Given the description of an element on the screen output the (x, y) to click on. 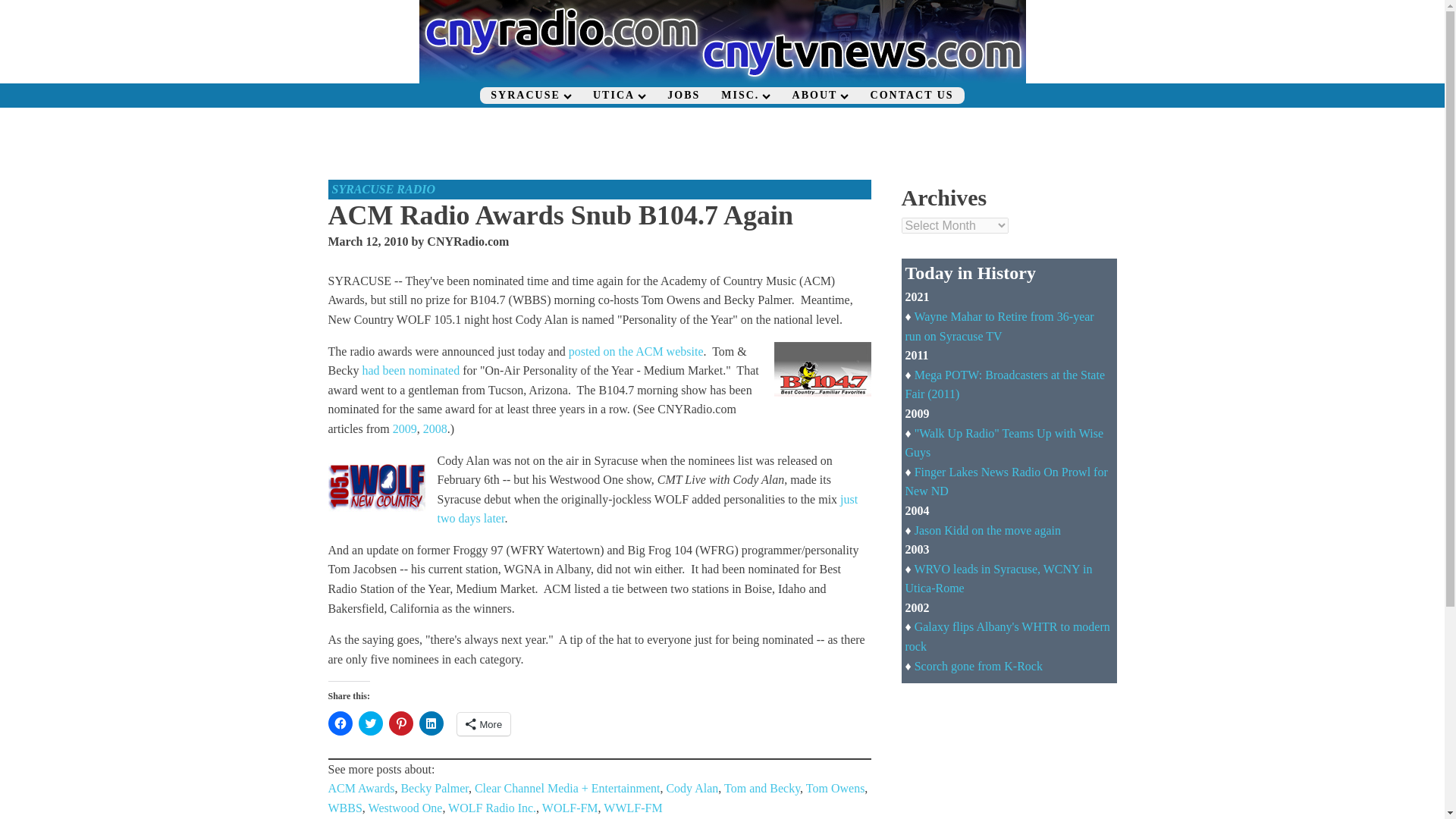
Click to share on Twitter (369, 723)
UTICA (619, 95)
just two days later (646, 509)
ABOUT (820, 95)
had been nominated (410, 369)
ACM Awards (360, 788)
Click to share on LinkedIn (430, 723)
MISC. (745, 95)
SYRACUSE RADIO (383, 188)
JOBS (683, 95)
